Given the description of an element on the screen output the (x, y) to click on. 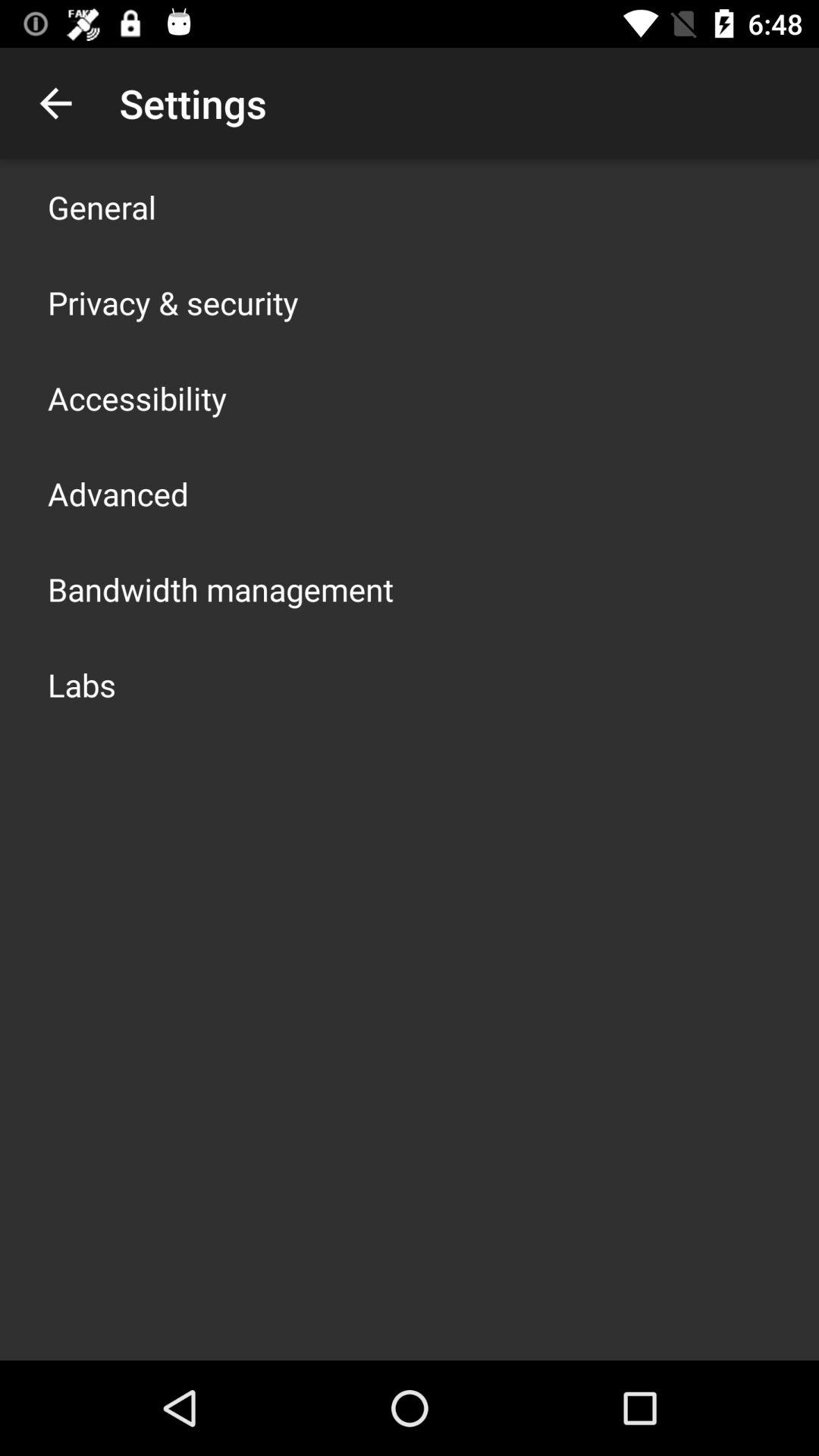
choose app below accessibility item (117, 493)
